Given the description of an element on the screen output the (x, y) to click on. 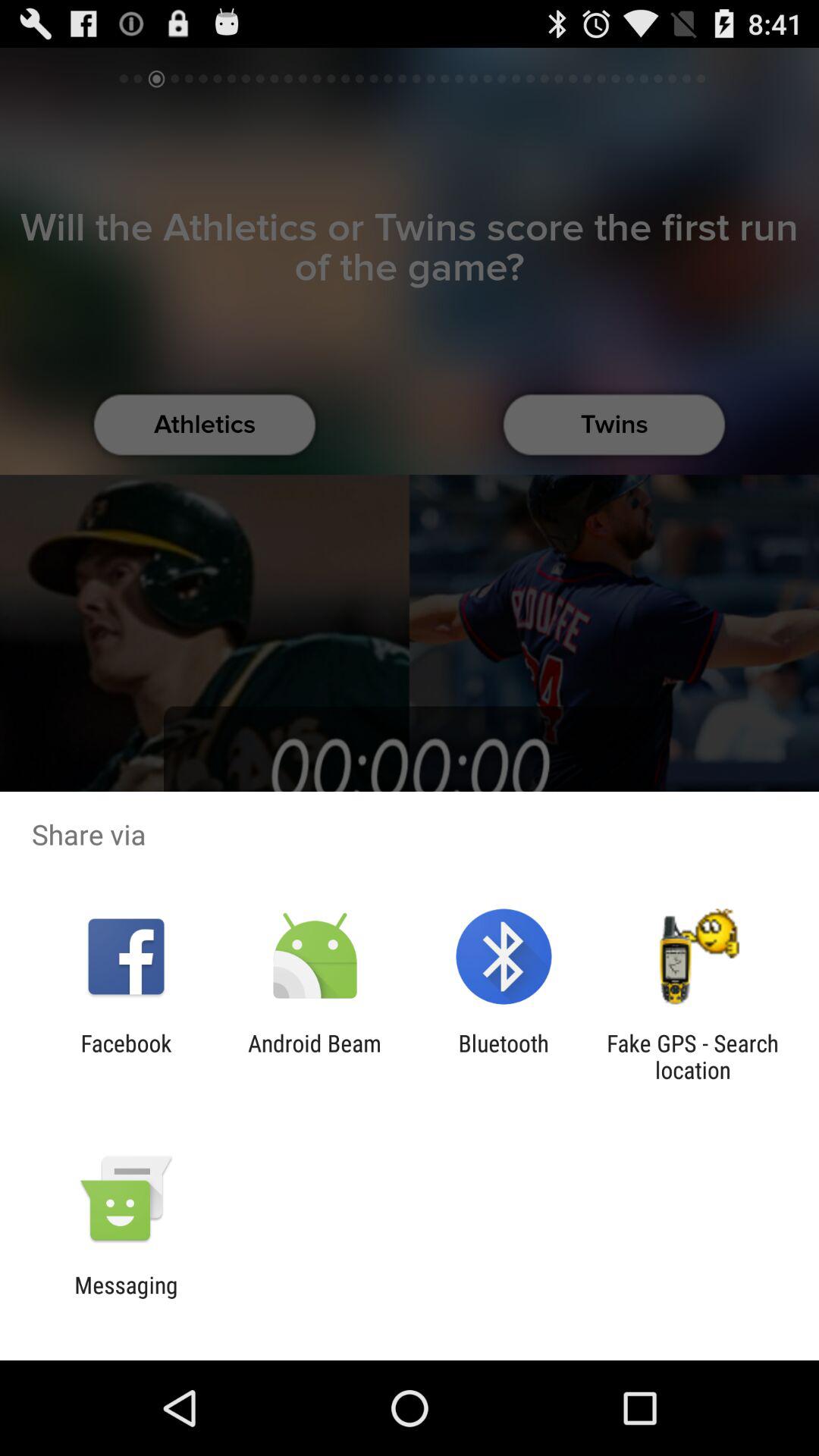
scroll to the android beam (314, 1056)
